Given the description of an element on the screen output the (x, y) to click on. 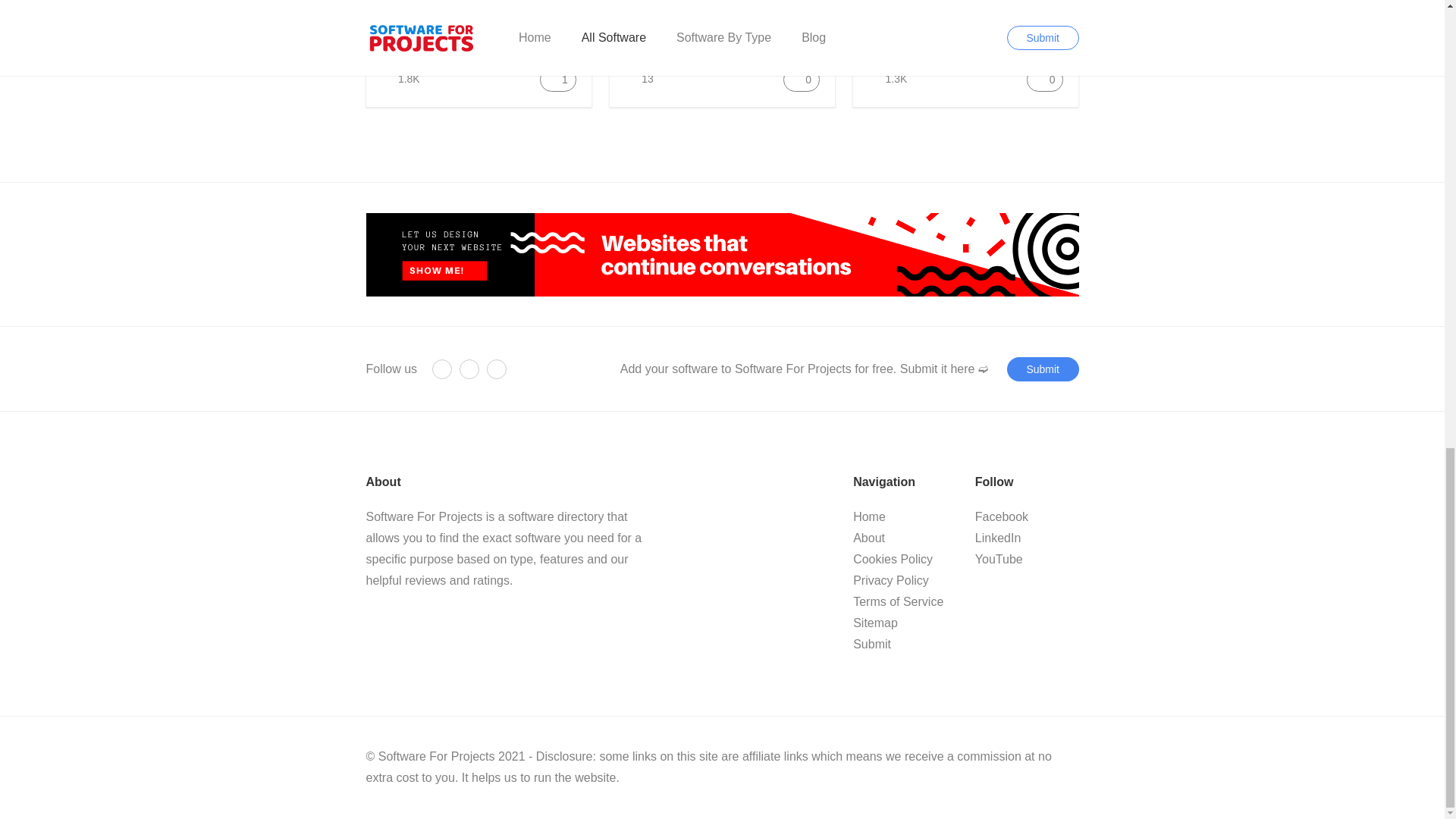
0 (801, 79)
Facebook (441, 369)
Submit (872, 644)
Views (638, 79)
YouTube (496, 369)
Submit (1042, 369)
0 (1044, 79)
Home (869, 516)
Cookies Policy (893, 558)
Upvote (558, 79)
Views (887, 79)
Upvote (801, 79)
LinkedIn (469, 369)
Upvote (1044, 79)
1 (558, 79)
